Given the description of an element on the screen output the (x, y) to click on. 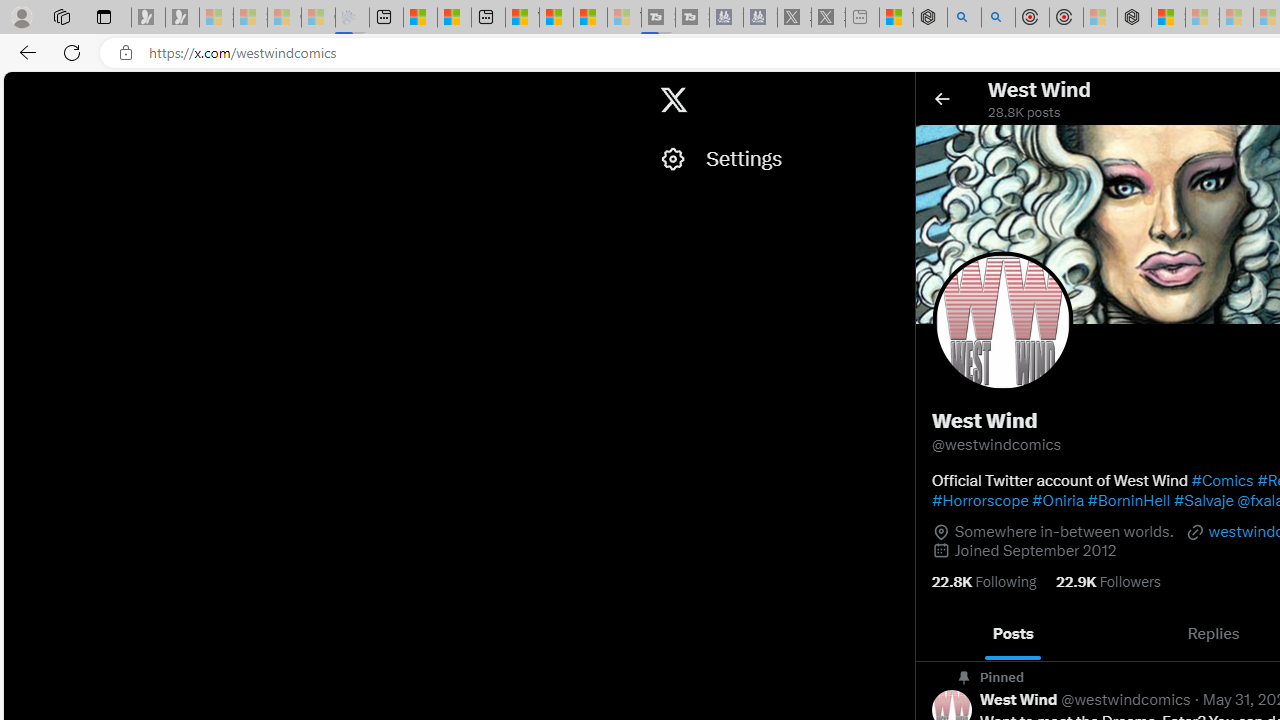
Skip to trending (21, 90)
Previous (938, 634)
#Comics (1222, 480)
Posts (1013, 634)
